Given the description of an element on the screen output the (x, y) to click on. 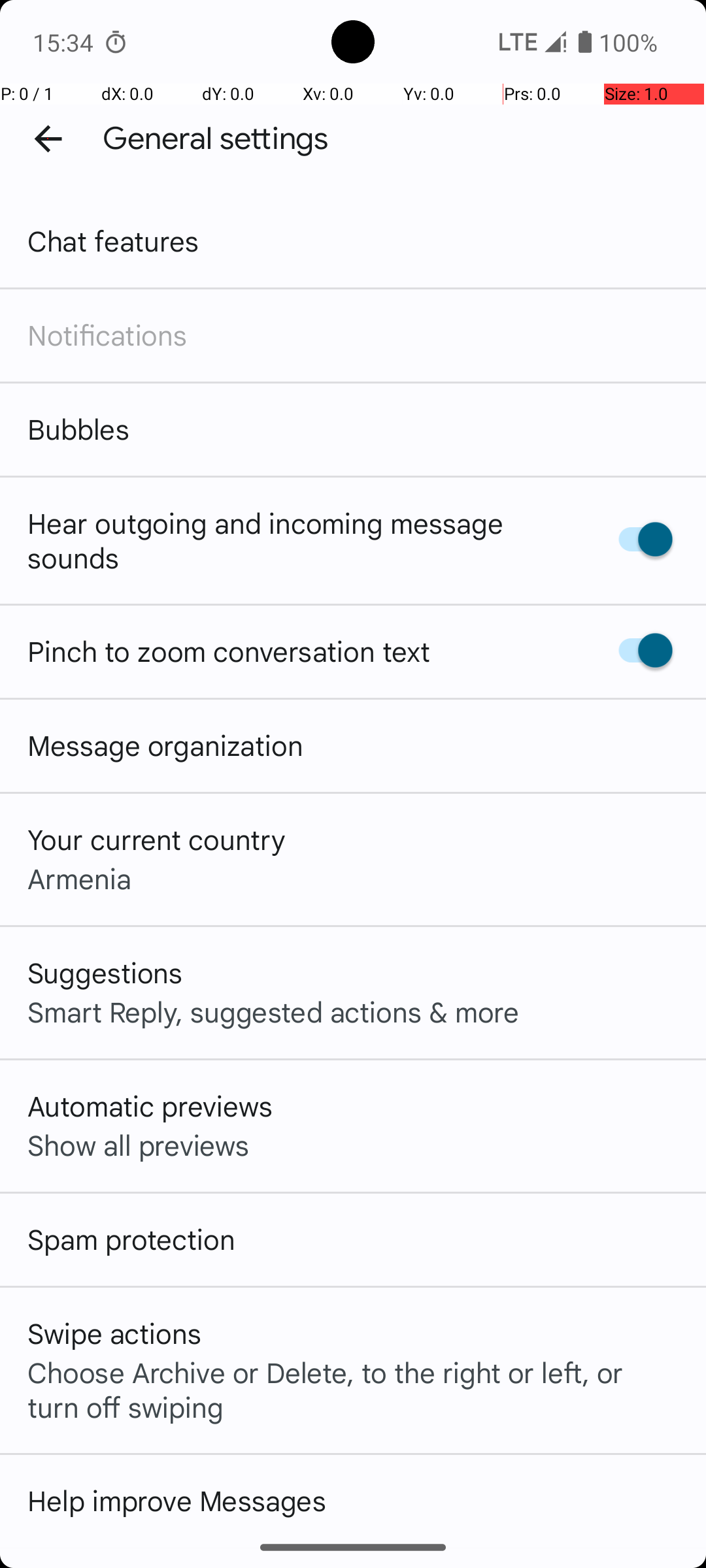
General settings Element type: android.widget.TextView (215, 138)
Chat features Element type: android.widget.TextView (113, 240)
Hear outgoing and incoming message sounds Element type: android.widget.TextView (299, 539)
Pinch to zoom conversation text Element type: android.widget.TextView (228, 650)
Message organization Element type: android.widget.TextView (165, 744)
Your current country Element type: android.widget.TextView (156, 838)
Armenia Element type: android.widget.TextView (79, 877)
Smart Reply, suggested actions & more Element type: android.widget.TextView (273, 1010)
Automatic previews Element type: android.widget.TextView (149, 1105)
Show all previews Element type: android.widget.TextView (138, 1144)
Spam protection Element type: android.widget.TextView (131, 1238)
Swipe actions Element type: android.widget.TextView (114, 1332)
Choose Archive or Delete, to the right or left, or turn off swiping Element type: android.widget.TextView (352, 1388)
Help improve Messages Element type: android.widget.TextView (176, 1499)
